Given the description of an element on the screen output the (x, y) to click on. 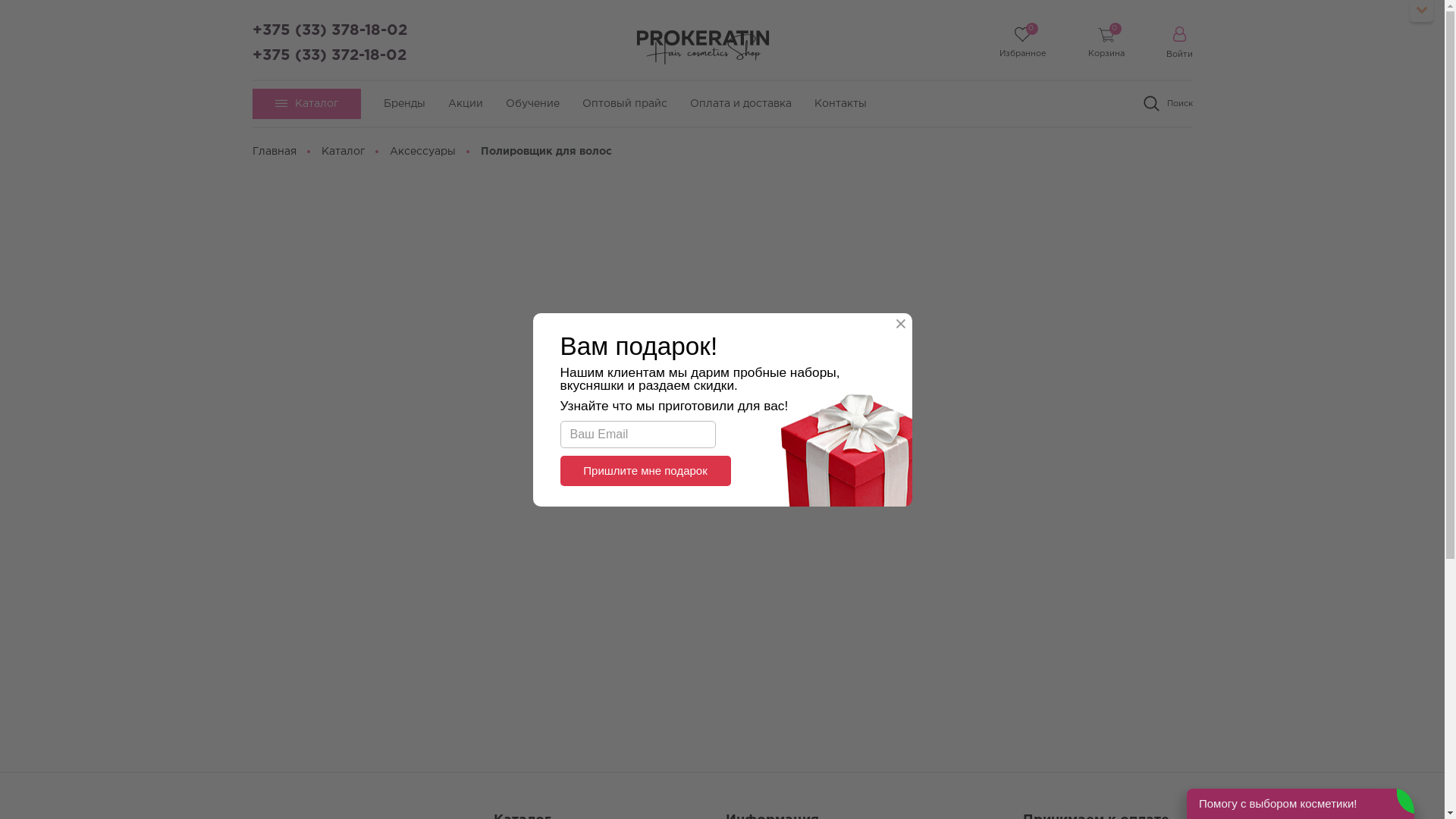
Close Element type: hover (900, 324)
+375 (33) 378-18-02 Element type: text (328, 29)
Y Element type: text (4, 4)
+375 (33) 372-18-02 Element type: text (328, 54)
